Given the description of an element on the screen output the (x, y) to click on. 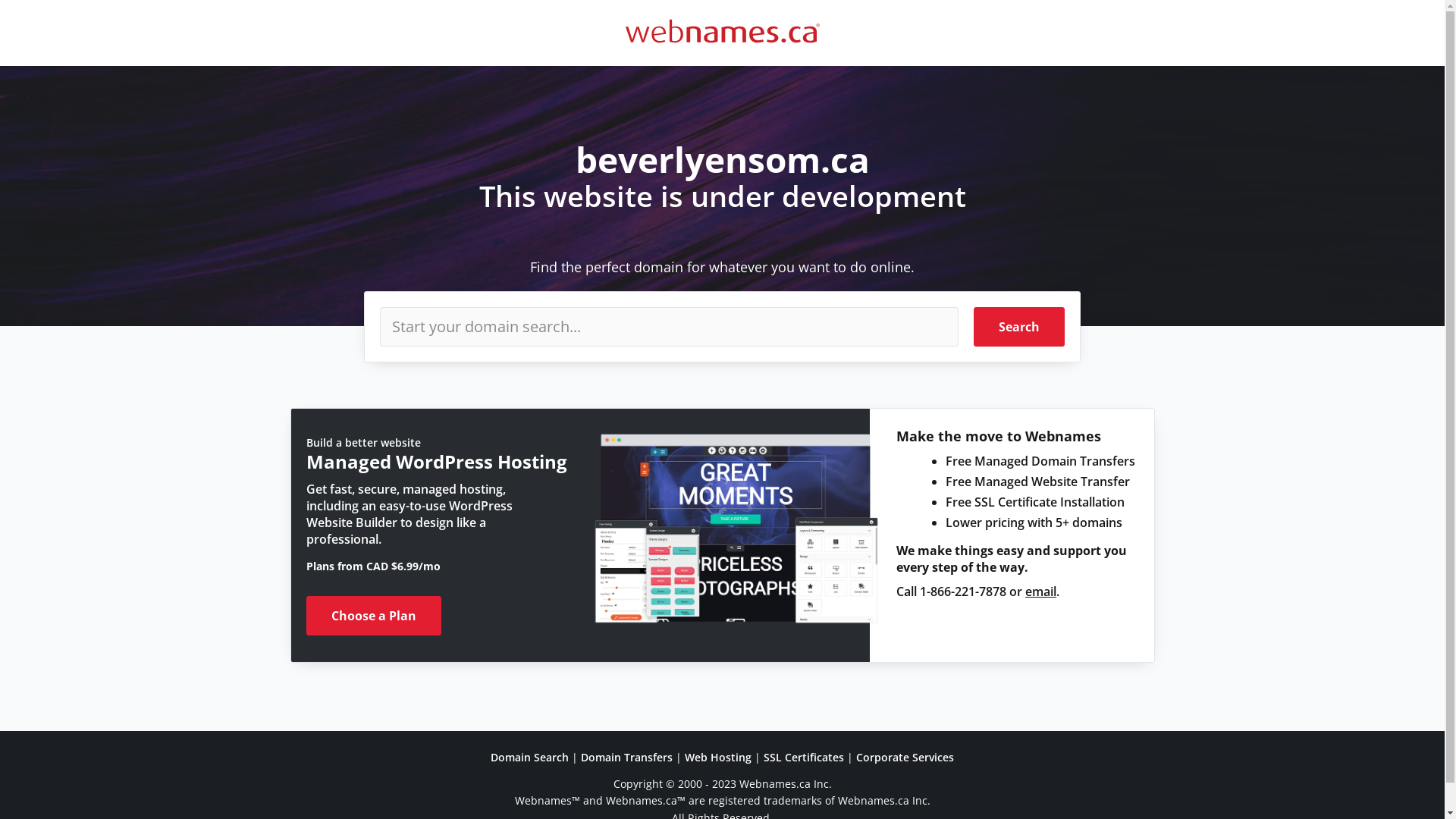
email Element type: text (1040, 591)
SSL Certificates Element type: text (803, 756)
1-866-221-7878 Element type: text (962, 591)
Search Element type: text (1018, 326)
Corporate Services Element type: text (904, 756)
Domain Search Element type: text (529, 756)
Domain Transfers Element type: text (626, 756)
Web Hosting Element type: text (717, 756)
Choose a Plan Element type: text (373, 615)
